Given the description of an element on the screen output the (x, y) to click on. 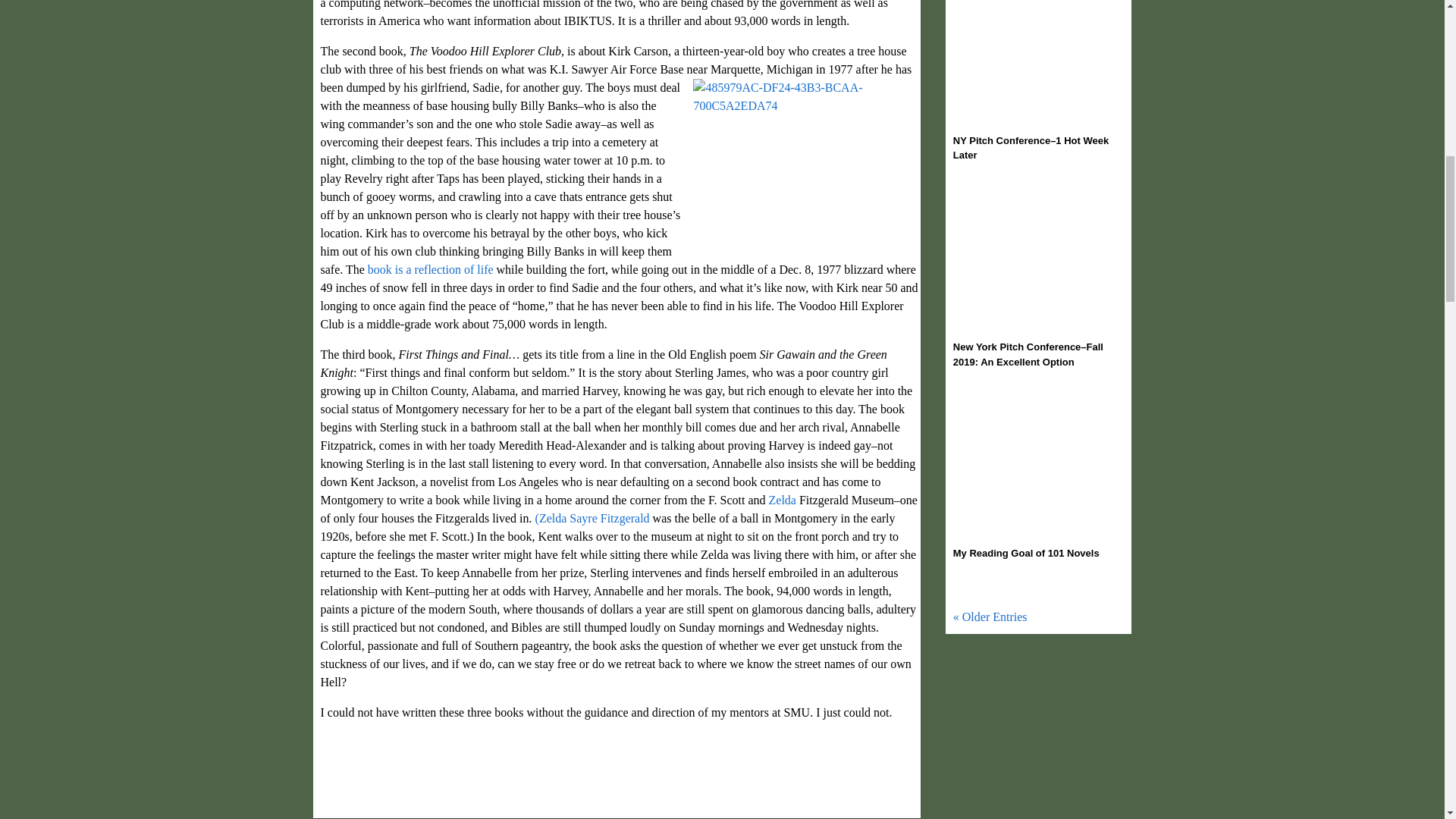
book is a reflection of life (430, 269)
My Reading Goal of 101 Novels (1026, 552)
Zelda (782, 499)
